Given the description of an element on the screen output the (x, y) to click on. 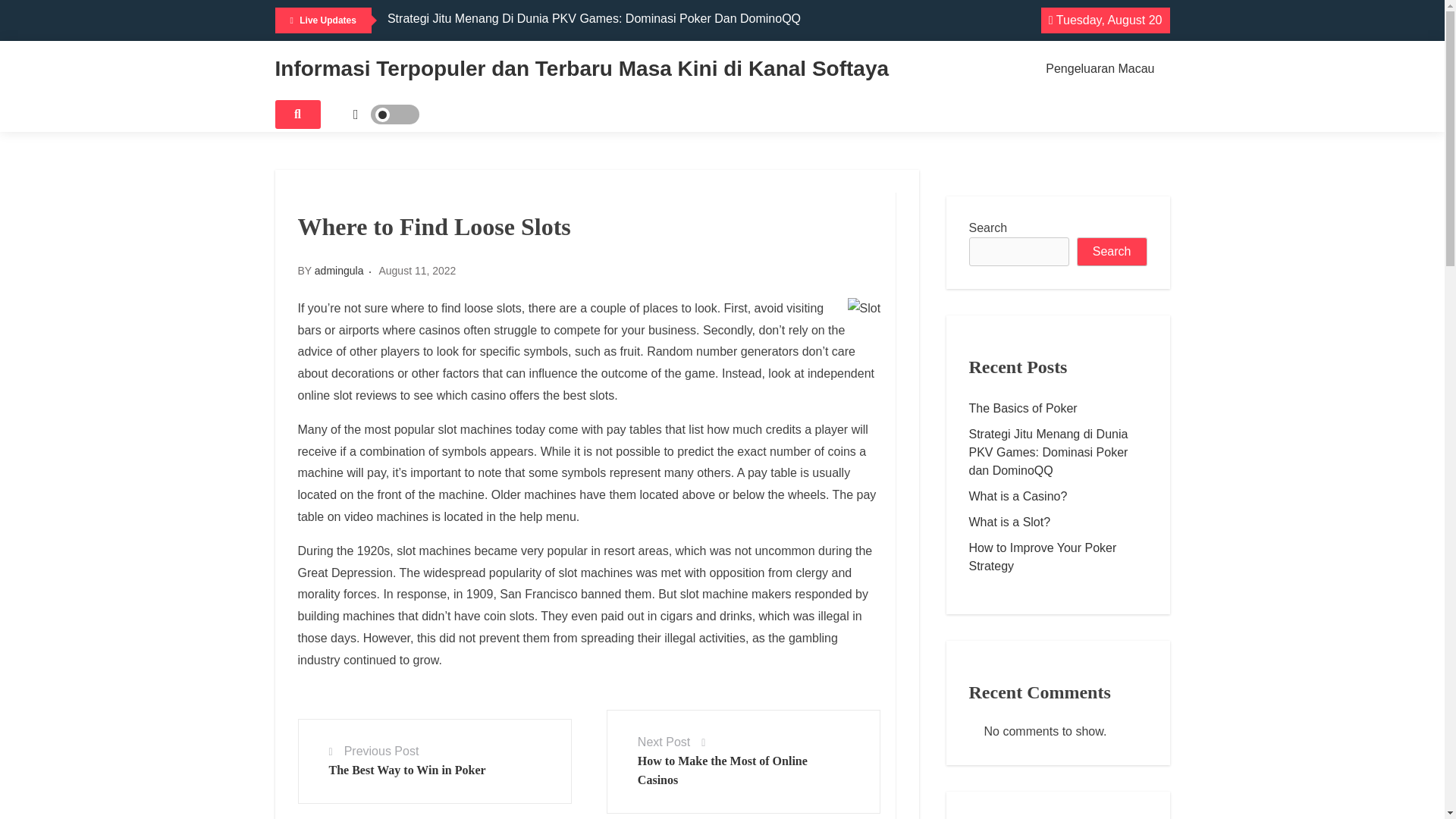
Pengeluaran Macau (1099, 68)
Informasi Terpopuler dan Terbaru Masa Kini di Kanal Softaya (581, 68)
admingula (339, 270)
How to Improve Your Poker Strategy (1058, 557)
The Basics of Poker (1058, 408)
Next Post (663, 741)
How to Make the Most of Online Casinos (722, 770)
What is a Slot? (1058, 522)
Previous Post (381, 750)
